Given the description of an element on the screen output the (x, y) to click on. 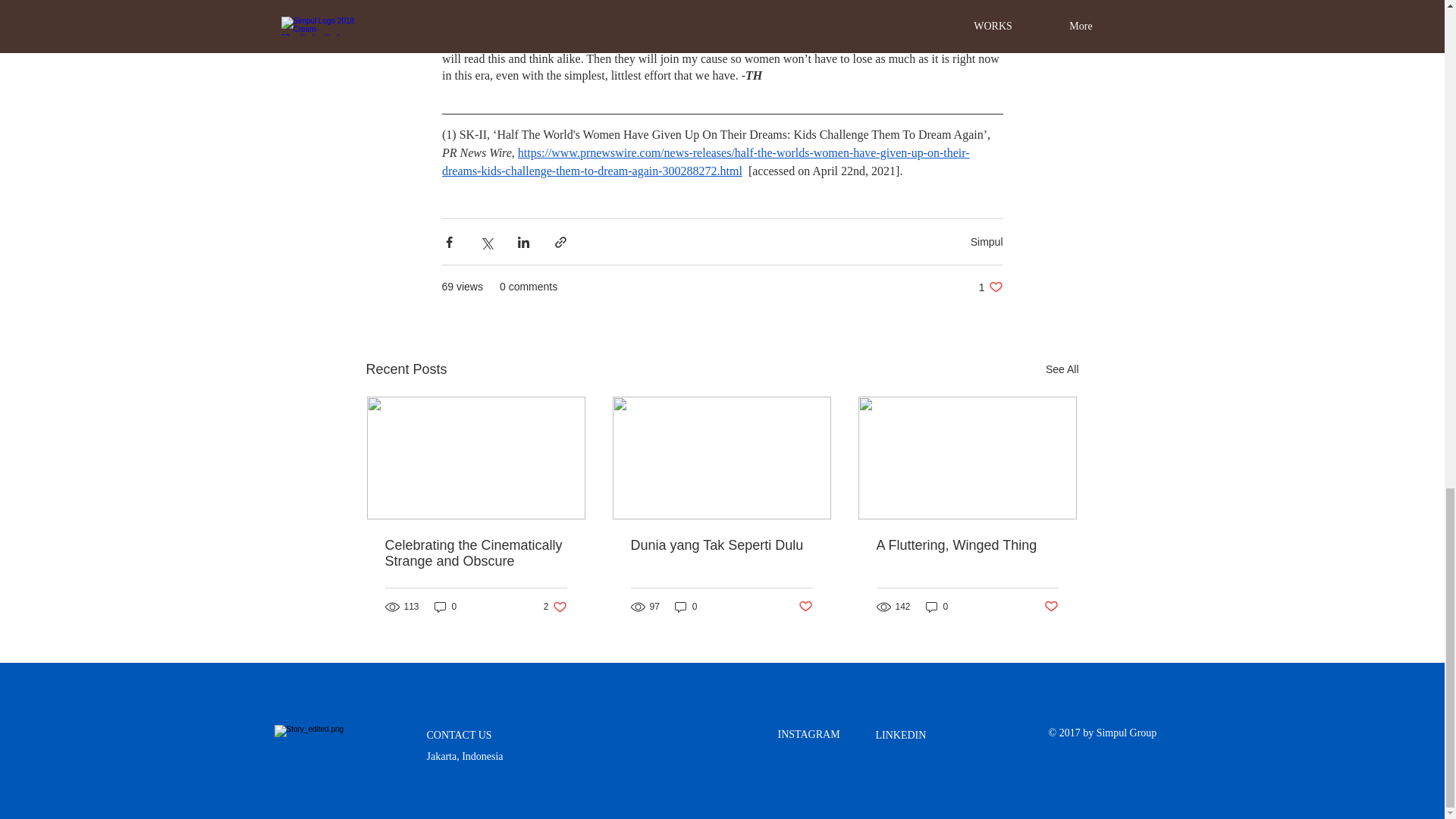
A Fluttering, Winged Thing (967, 545)
See All (990, 287)
0 (1061, 369)
Celebrating the Cinematically Strange and Obscure (555, 606)
Simpul (685, 606)
Post not marked as liked (476, 553)
Post not marked as liked (987, 241)
0 (804, 606)
